Given the description of an element on the screen output the (x, y) to click on. 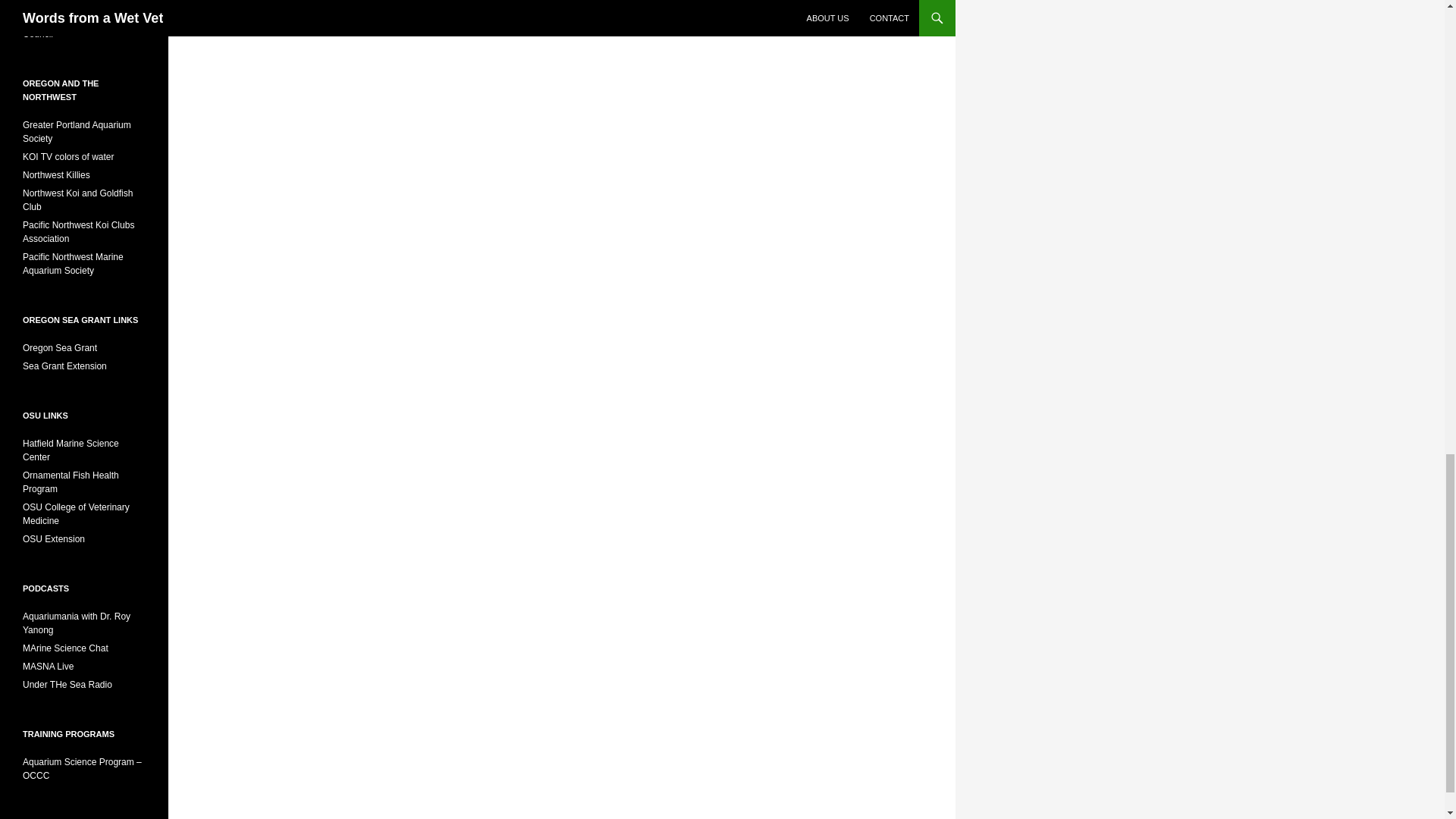
Newport, Oregon (71, 450)
